Given the description of an element on the screen output the (x, y) to click on. 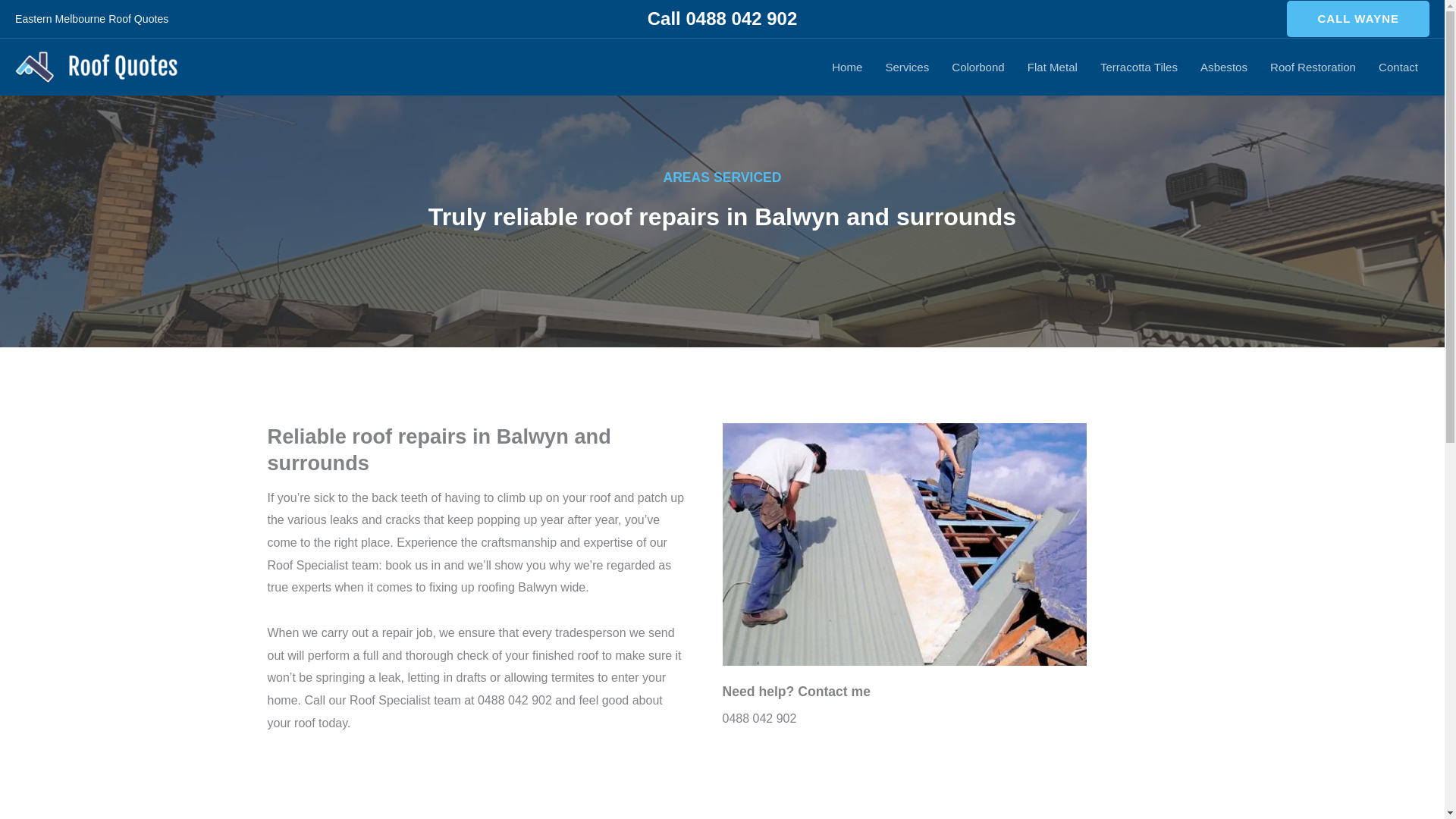
CALL WAYNE (1358, 18)
Colorbond (978, 67)
Home (31, 15)
Services (906, 67)
Contact (1398, 67)
Terracotta Tiles (1139, 67)
Asbestos (1224, 67)
Roof Restoration (1313, 67)
Need help? Contact me (796, 691)
Flat Metal (1052, 67)
